Given the description of an element on the screen output the (x, y) to click on. 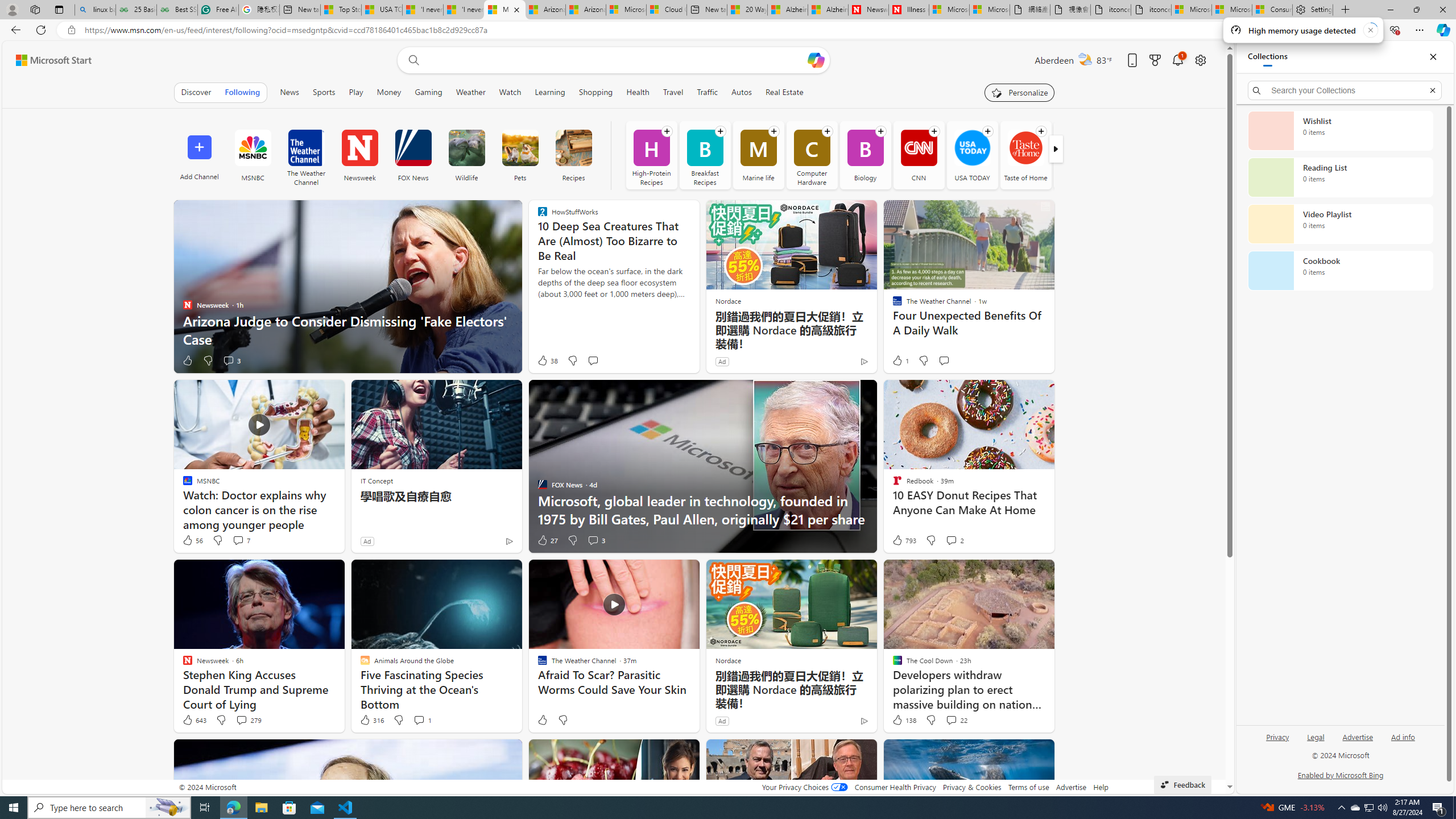
View comments 7 Comment (237, 540)
Enter your search term (617, 59)
Weather (470, 92)
View comments 3 Comment (592, 540)
Exit search (1432, 90)
Hide this story (1019, 752)
View comments 279 Comment (248, 719)
Recipes (573, 147)
Health (637, 92)
Travel (672, 92)
Biology (865, 155)
